Given the description of an element on the screen output the (x, y) to click on. 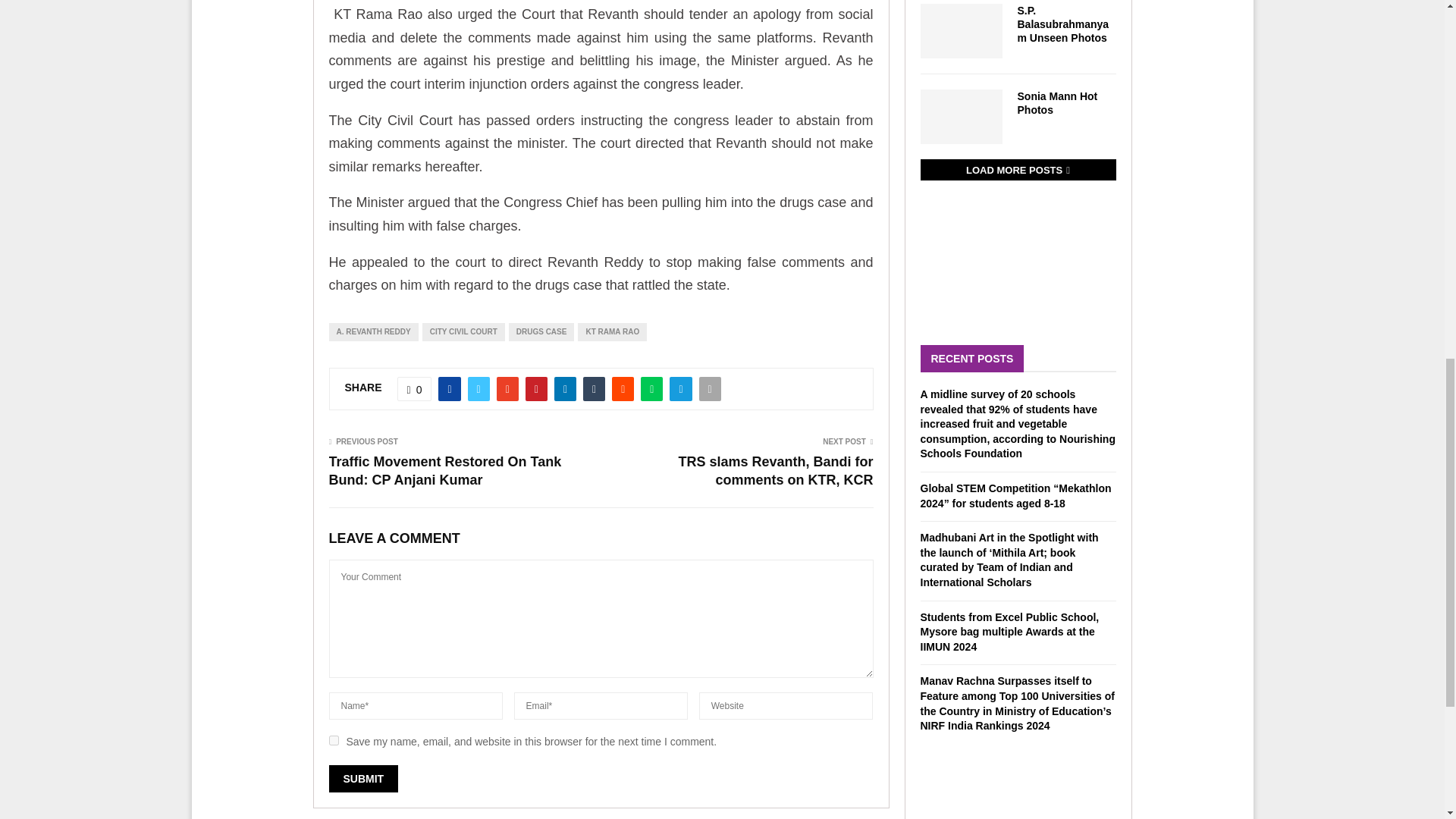
A. REVANTH REDDY (374, 331)
Submit (363, 778)
KT RAMA RAO (612, 331)
CITY CIVIL COURT (463, 331)
DRUGS CASE (541, 331)
Like (414, 388)
yes (334, 740)
0 (414, 388)
